Given the description of an element on the screen output the (x, y) to click on. 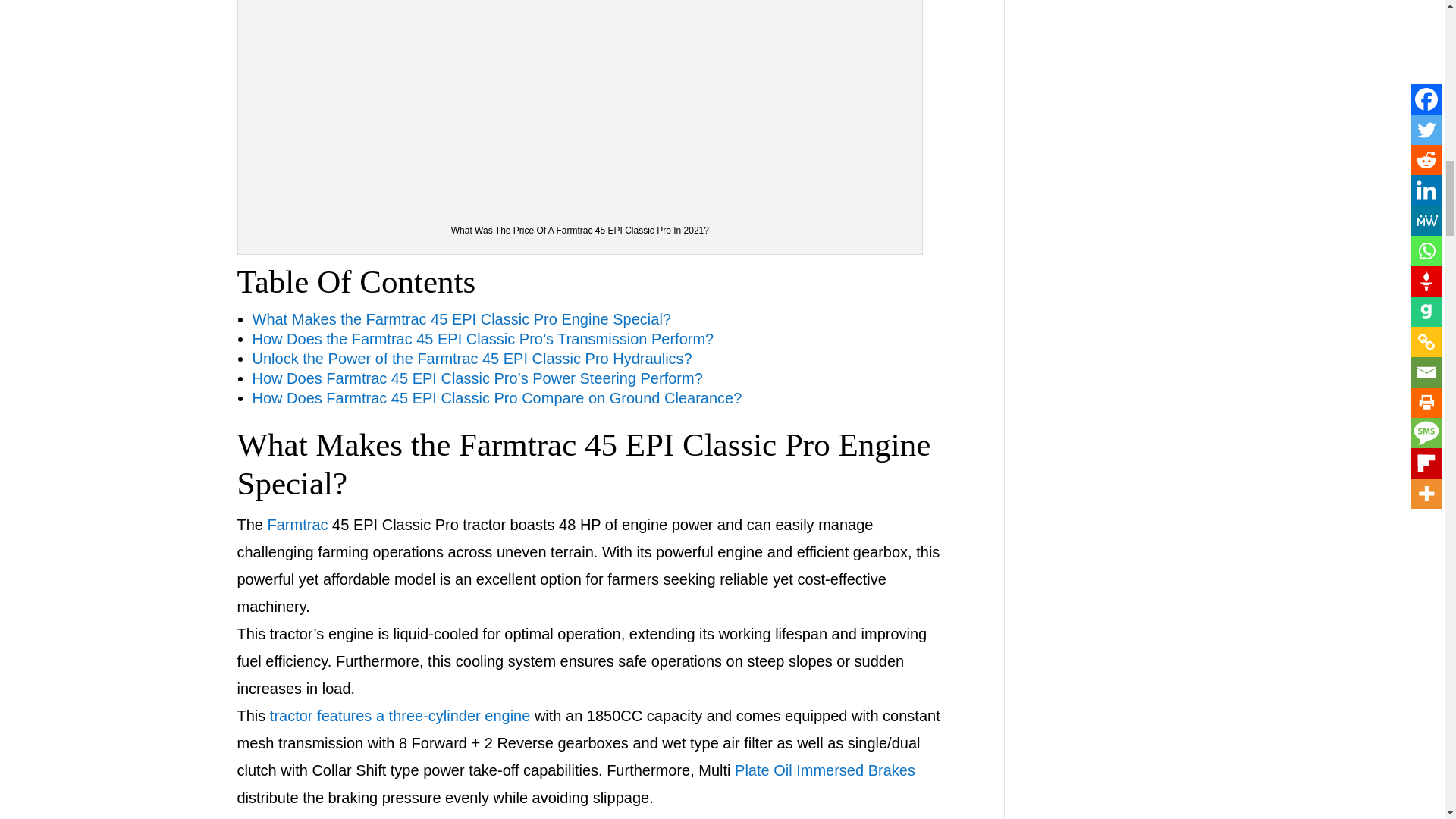
tractor features (320, 817)
What Makes the Farmtrac 45 EPI Classic Pro Engine Special? (460, 319)
Plate Oil Immersed Brakes (825, 770)
tractor features a three-cylinder engine (400, 715)
Farmtrac (298, 524)
What Makes the Farmtrac 45 EPI Classic Pro Engine Special? (582, 464)
